Given the description of an element on the screen output the (x, y) to click on. 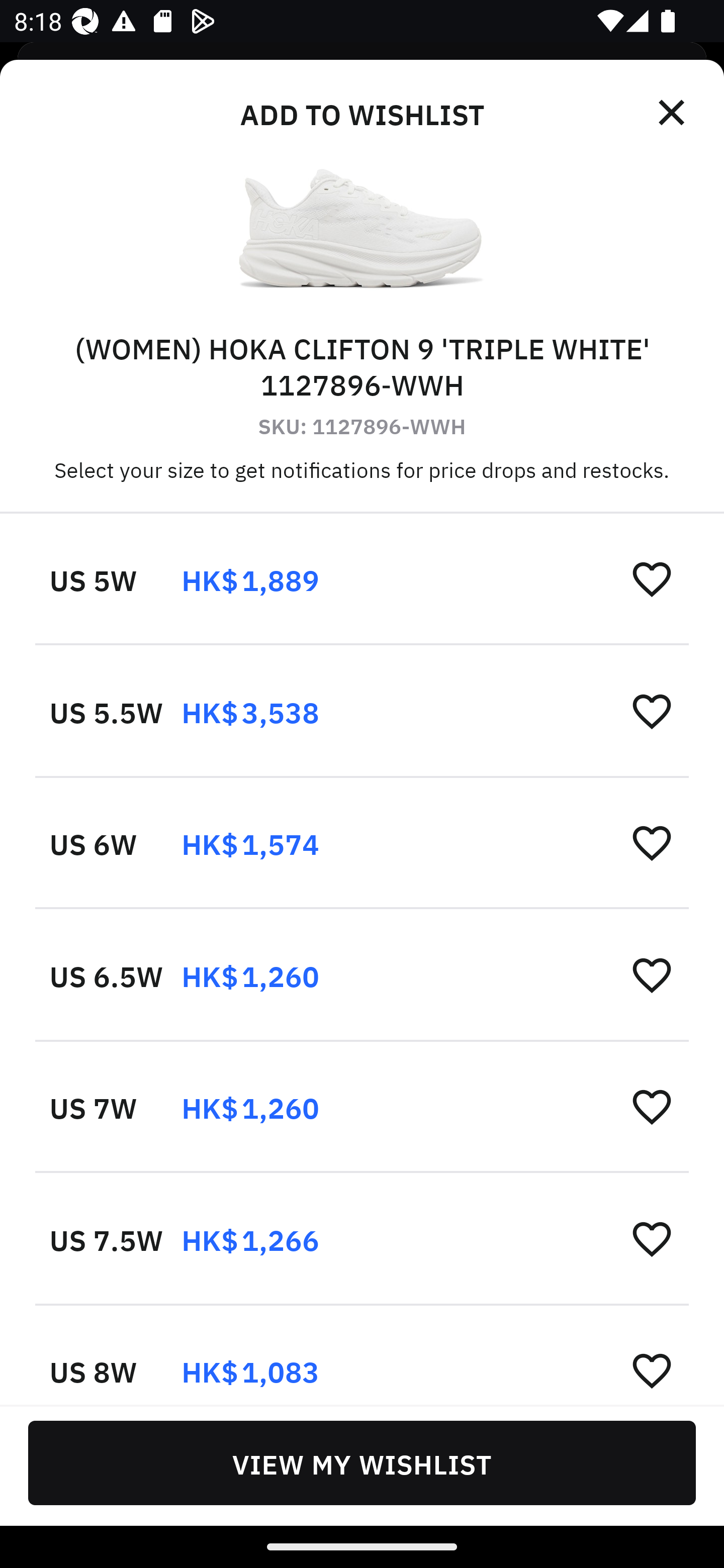
 (672, 112)
󰋕 (651, 578)
󰋕 (651, 710)
󰋕 (651, 842)
󰋕 (651, 974)
󰋕 (651, 1105)
󰋕 (651, 1237)
󰋕 (651, 1369)
VIEW MY WISHLIST (361, 1462)
